Given the description of an element on the screen output the (x, y) to click on. 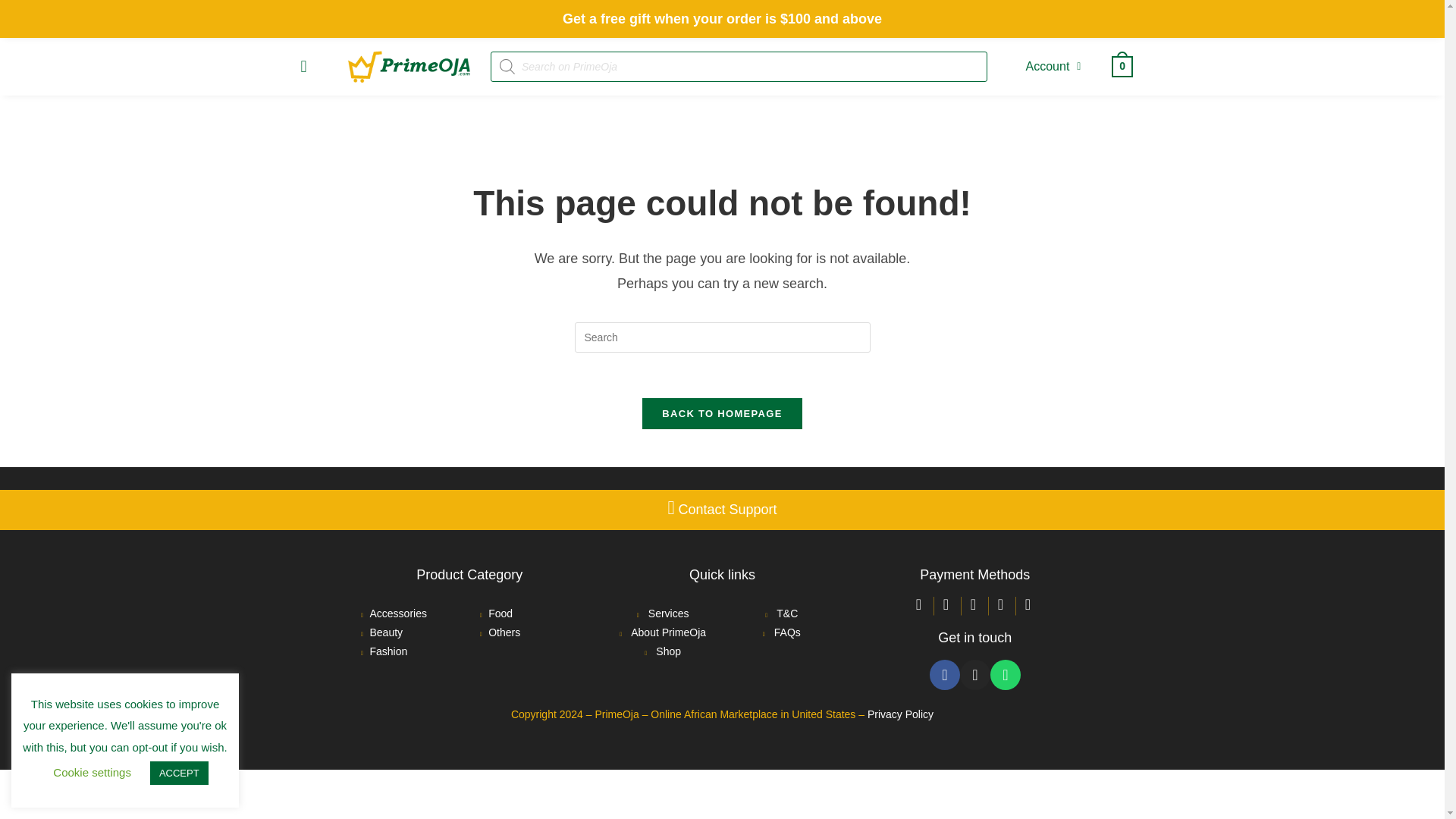
BACK TO HOMEPAGE (722, 413)
0 (1122, 65)
Account (1053, 66)
